Given the description of an element on the screen output the (x, y) to click on. 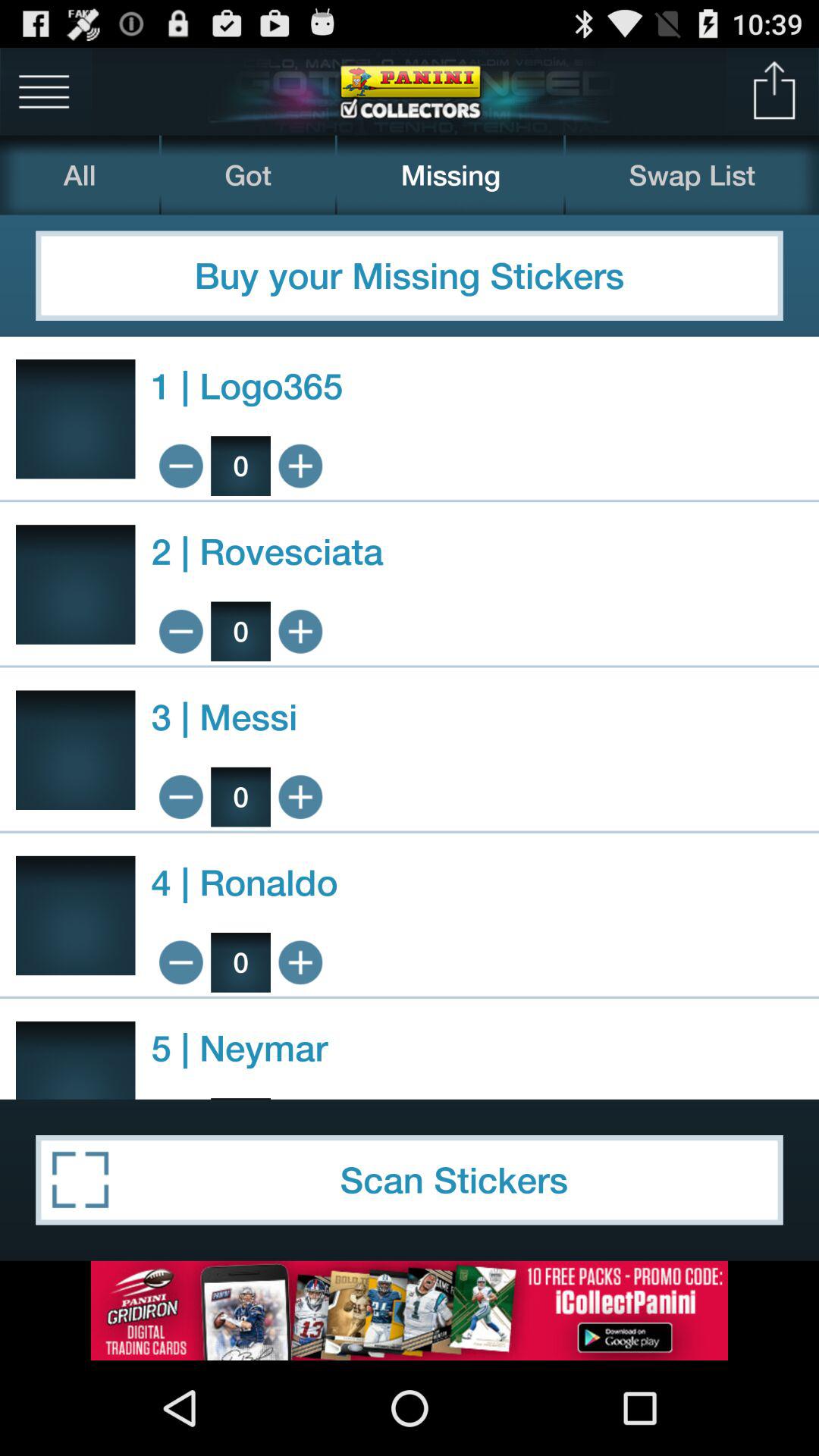
advertisement (409, 1310)
